Given the description of an element on the screen output the (x, y) to click on. 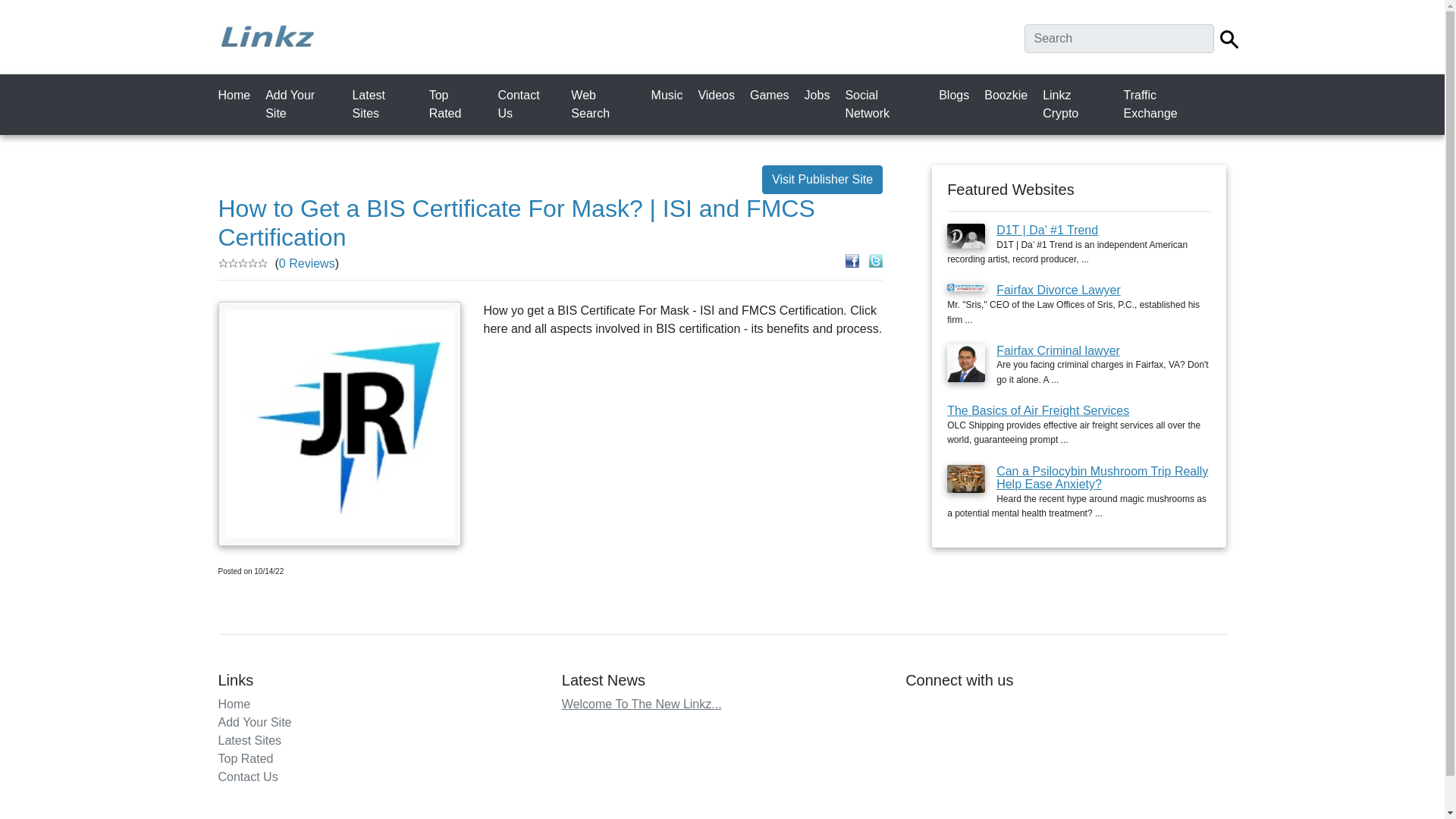
Social Network (887, 104)
Web Search (606, 104)
Jobs (820, 95)
Traffic Exchange (1170, 104)
Contact Us (529, 104)
0 Reviews (306, 263)
Videos (719, 95)
The Basics of Air Freight Services (1038, 410)
Can a Psilocybin Mushroom Trip Really Help Ease Anxiety? (1101, 477)
Fairfax Divorce Lawyer (1058, 289)
Home (237, 95)
Games (771, 95)
Add Your Site (255, 721)
Top Rated (245, 758)
Music (669, 95)
